Given the description of an element on the screen output the (x, y) to click on. 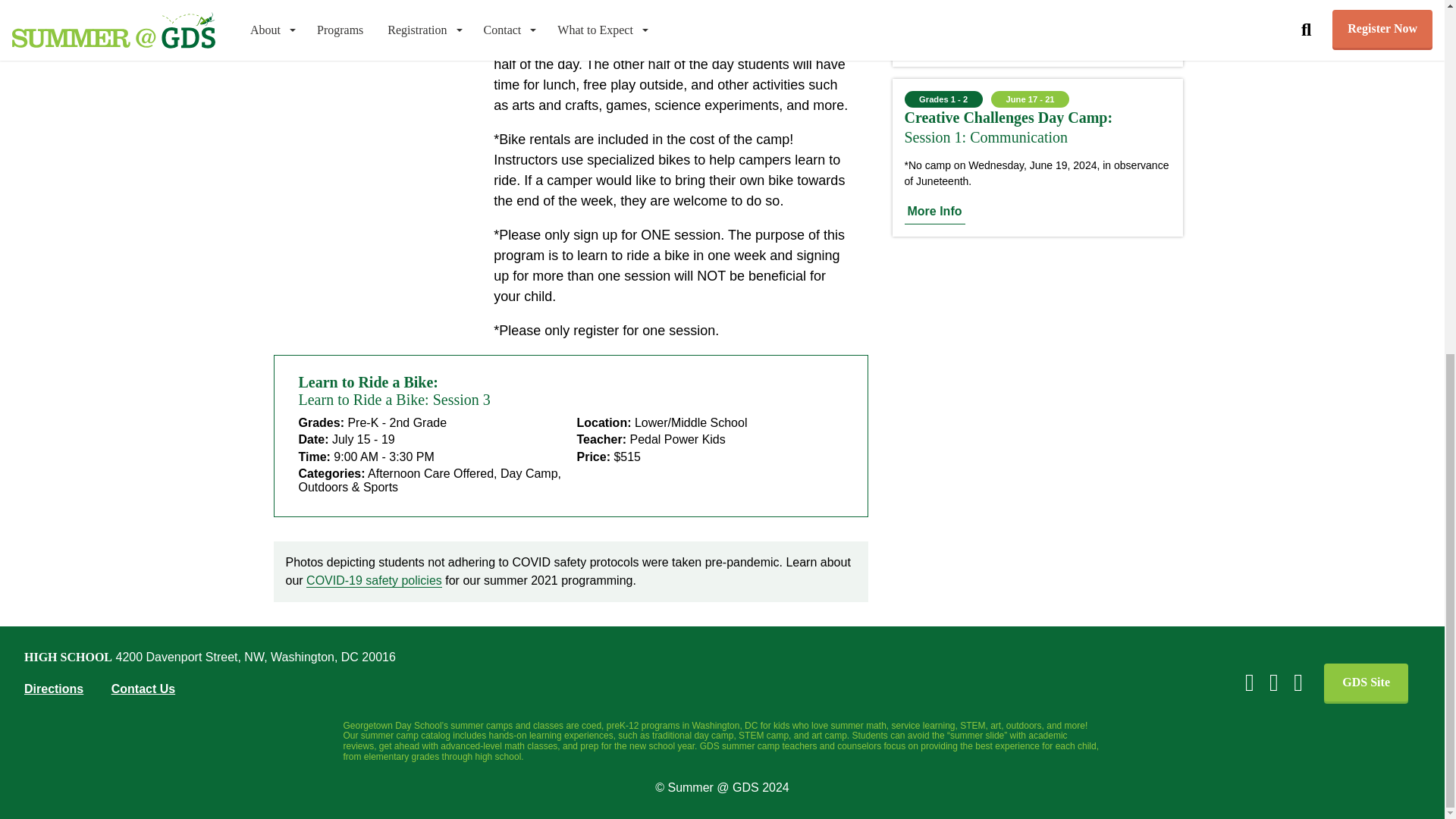
Directions (53, 688)
COVID-19 safety policies (373, 581)
Contact Us (143, 688)
GDS Site (1365, 682)
